Given the description of an element on the screen output the (x, y) to click on. 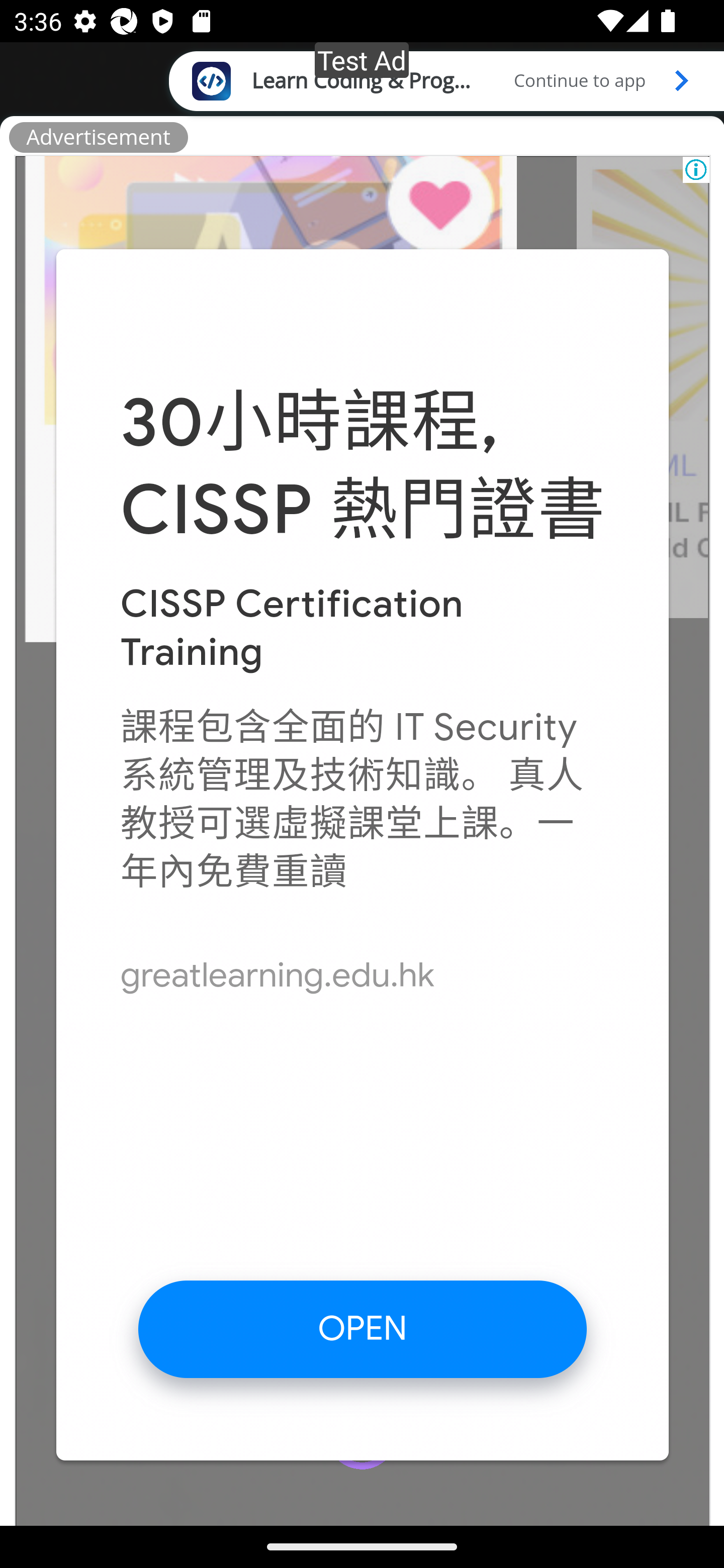
Learn Coding & Programming Continue to app (446, 80)
30小時課程, CISSP 熱門證書 30小時課程, CISSP 熱門證書 (362, 466)
greatlearning.edu.hk (277, 975)
OPEN (362, 1327)
